Given the description of an element on the screen output the (x, y) to click on. 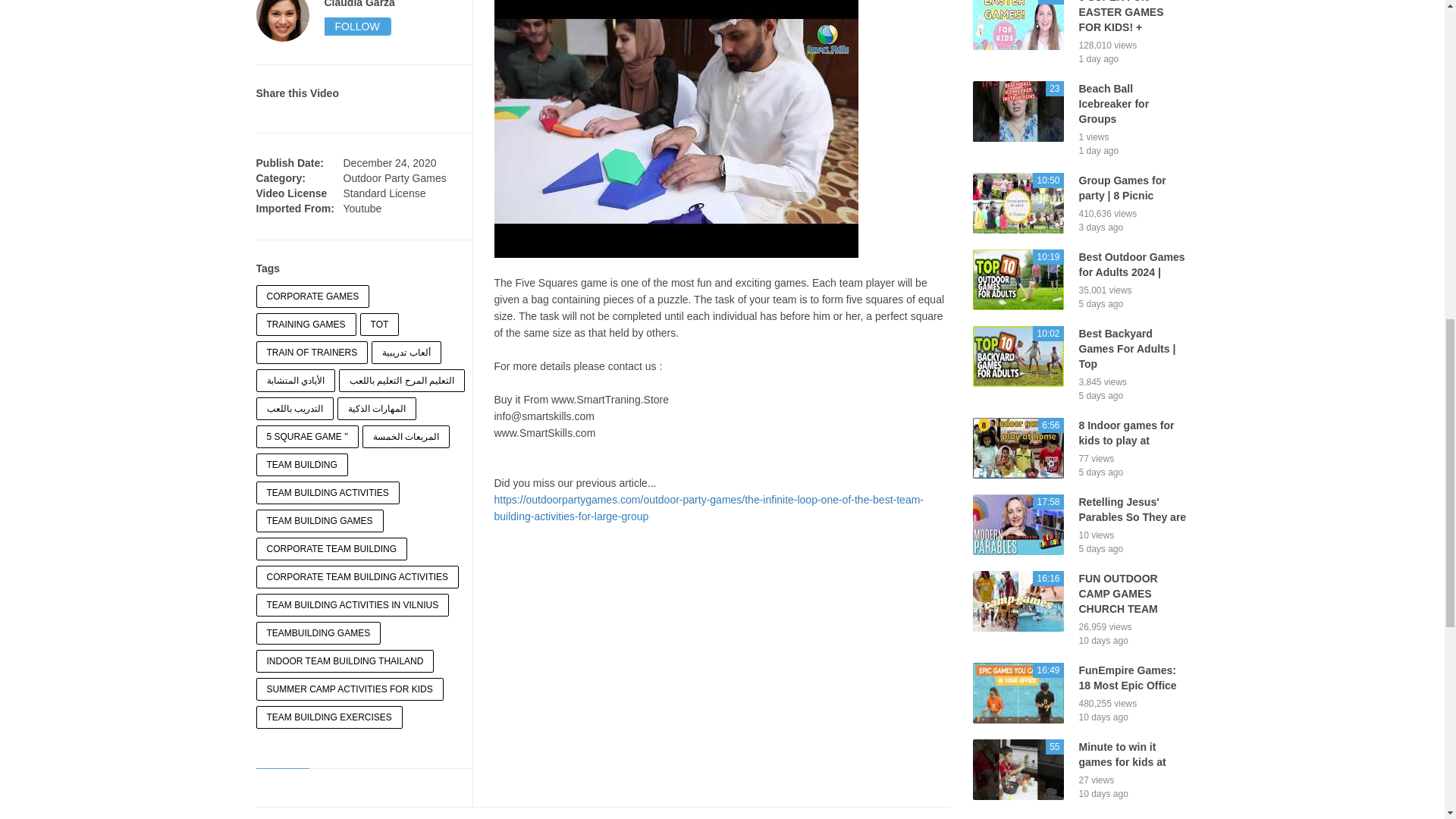
5 SQURAE GAME '' (307, 436)
TEAM BUILDING GAMES (320, 520)
TEAM BUILDING ACTIVITIES (327, 492)
TOT (378, 323)
FOLLOW (356, 26)
CORPORATE TEAM BUILDING (331, 548)
CORPORATE GAMES (312, 296)
TEAM BUILDING (301, 464)
Claudia Garza (397, 15)
CORPORATE TEAM BUILDING ACTIVITIES (358, 576)
